Given the description of an element on the screen output the (x, y) to click on. 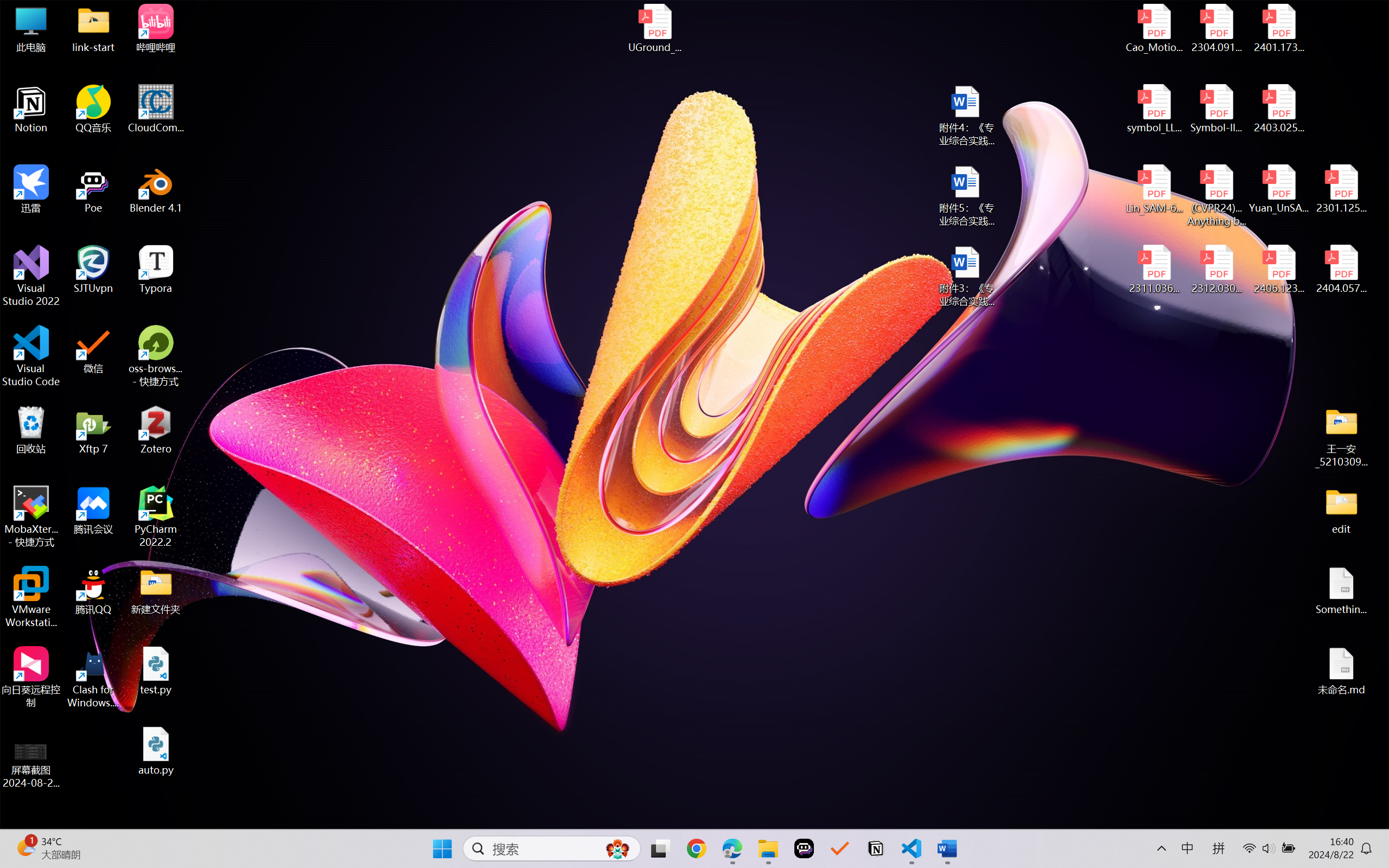
Filename (656, 492)
